Given the description of an element on the screen output the (x, y) to click on. 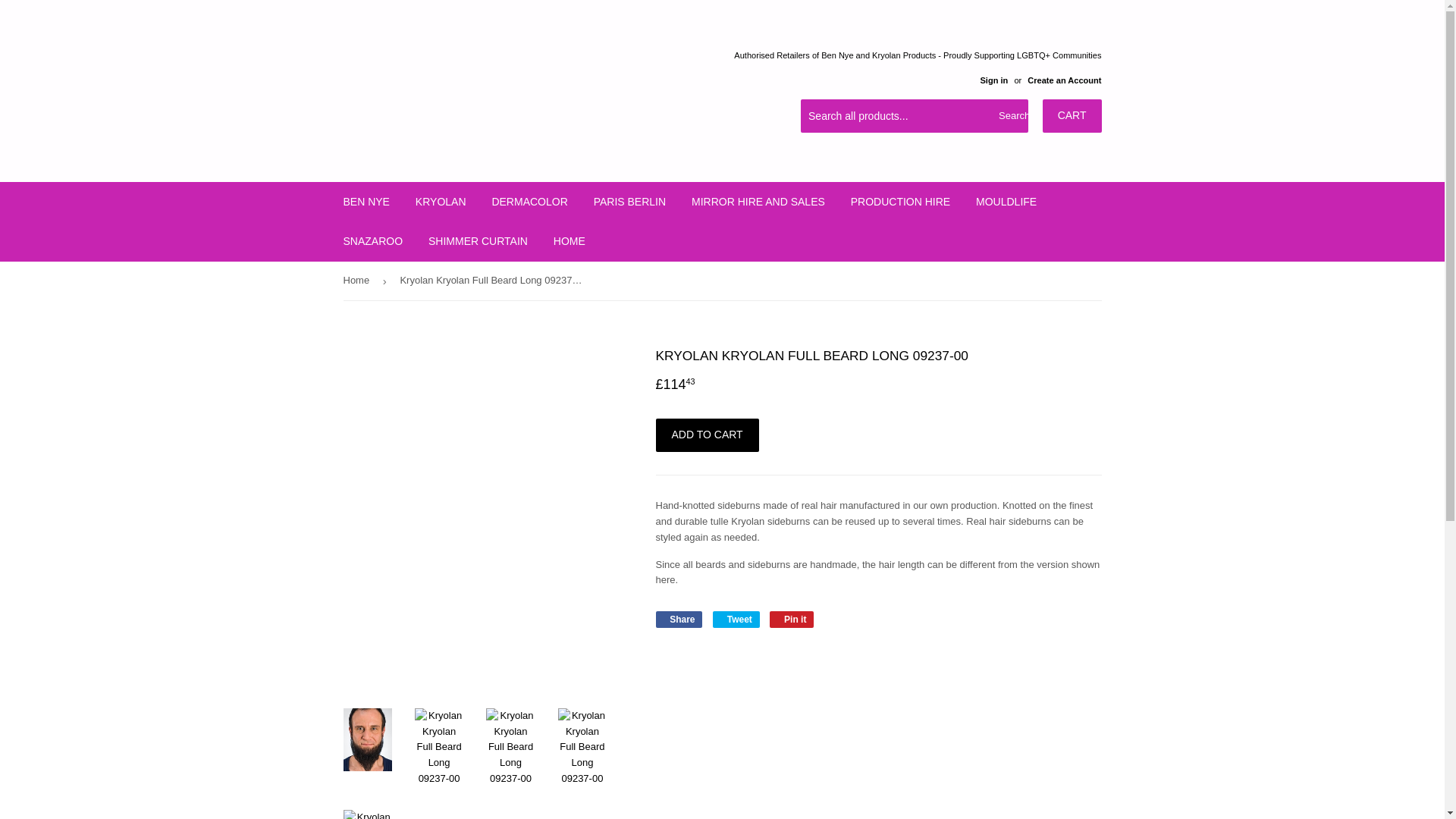
Back to the frontpage (358, 280)
Home (358, 280)
CART (1072, 115)
PRODUCTION HIRE (900, 201)
Pin on Pinterest (791, 619)
MOULDLIFE (1005, 201)
BEN NYE (366, 201)
Sign in (993, 80)
Share on Facebook (678, 619)
Tweet on Twitter (736, 619)
KRYOLAN (440, 201)
PARIS BERLIN (629, 201)
HOME (568, 241)
Create an Account (1063, 80)
DERMACOLOR (529, 201)
